Given the description of an element on the screen output the (x, y) to click on. 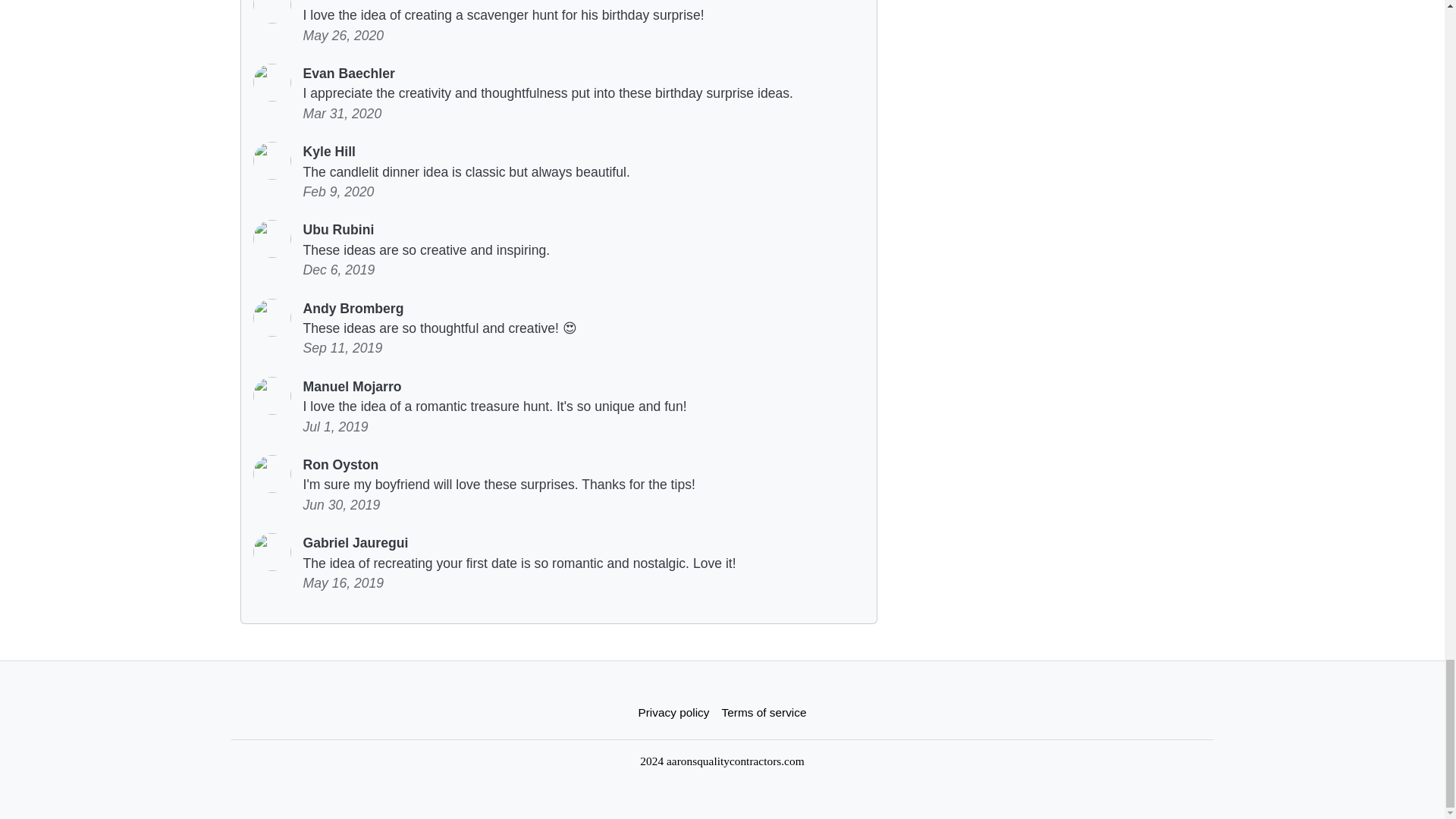
Privacy policy (672, 712)
Terms of service (764, 712)
